Given the description of an element on the screen output the (x, y) to click on. 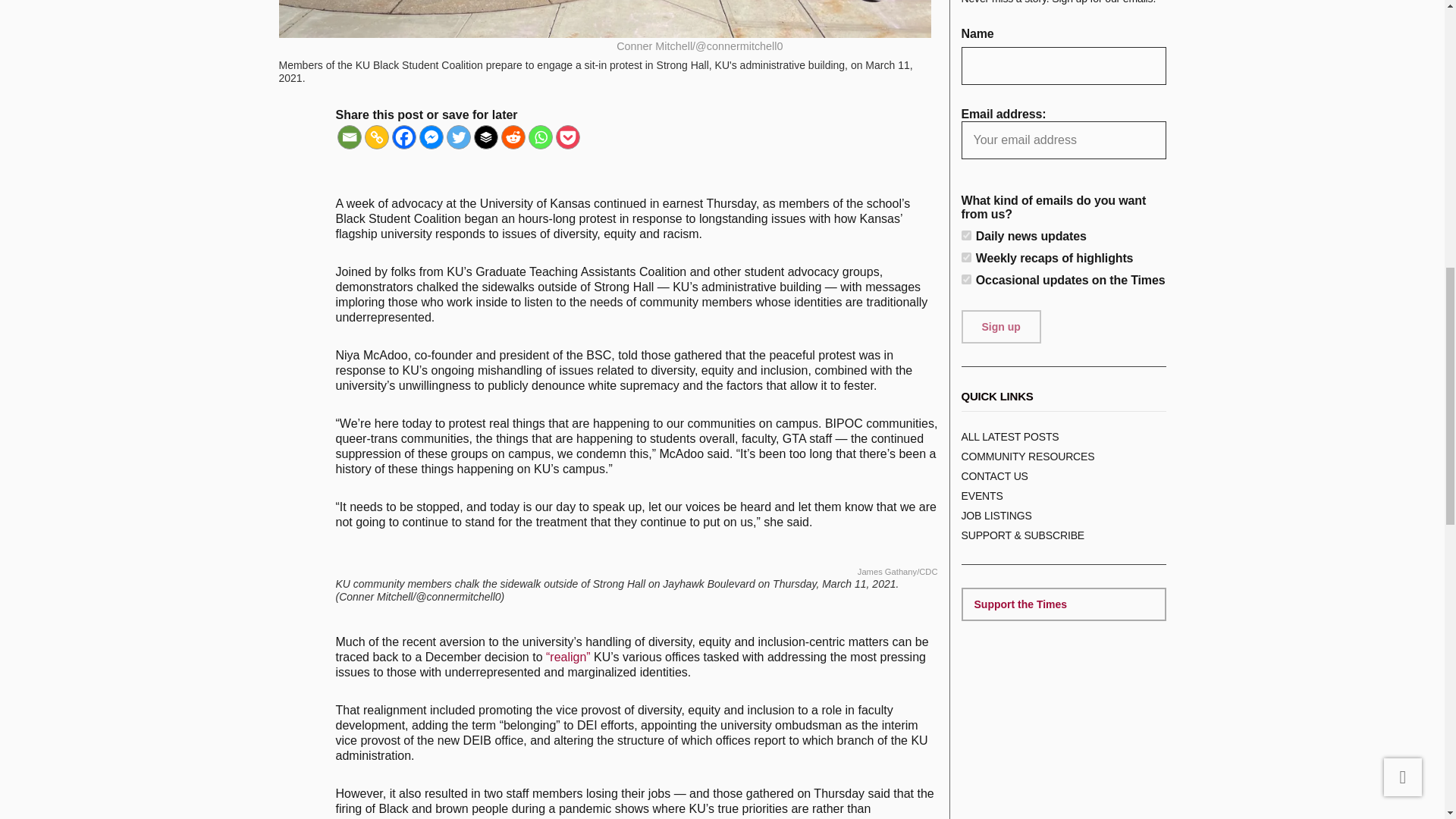
Sign up (1000, 326)
Buffer (485, 137)
Reddit (512, 137)
Twitter (457, 137)
093199c2e9 (965, 235)
77e972c902 (965, 257)
Facebook (402, 137)
Copy Link (376, 137)
Pocket (566, 137)
3692fadf75 (965, 279)
